Given the description of an element on the screen output the (x, y) to click on. 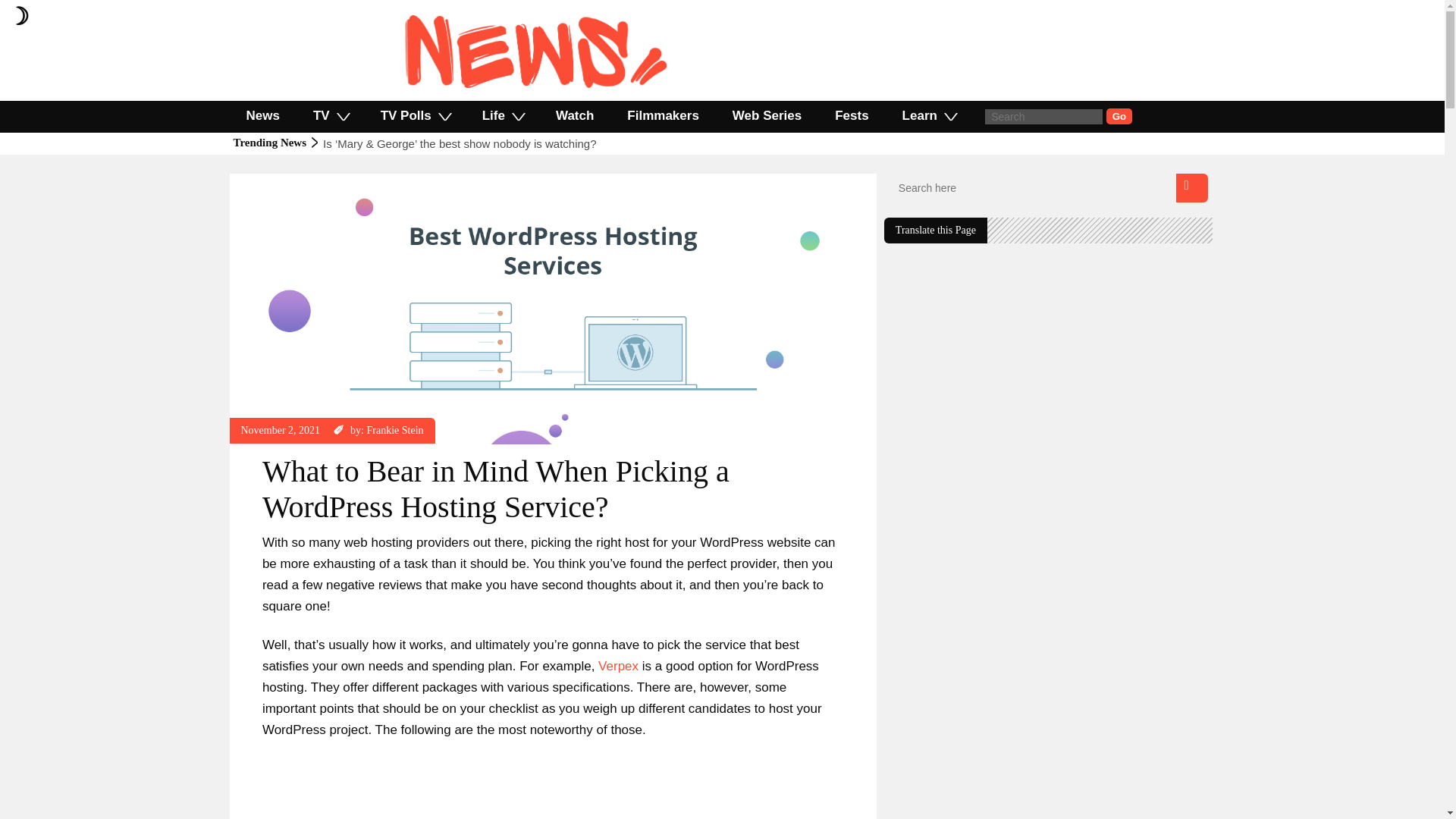
Filmmakers (663, 115)
November 2, 2021 (280, 430)
Learn (928, 115)
Go (1119, 116)
Go (1119, 116)
TV Polls (414, 115)
Life (501, 115)
Watch (574, 115)
TV (330, 115)
Web Series (767, 115)
Go (1119, 116)
Fests (851, 115)
Tech (251, 180)
News (261, 115)
